Given the description of an element on the screen output the (x, y) to click on. 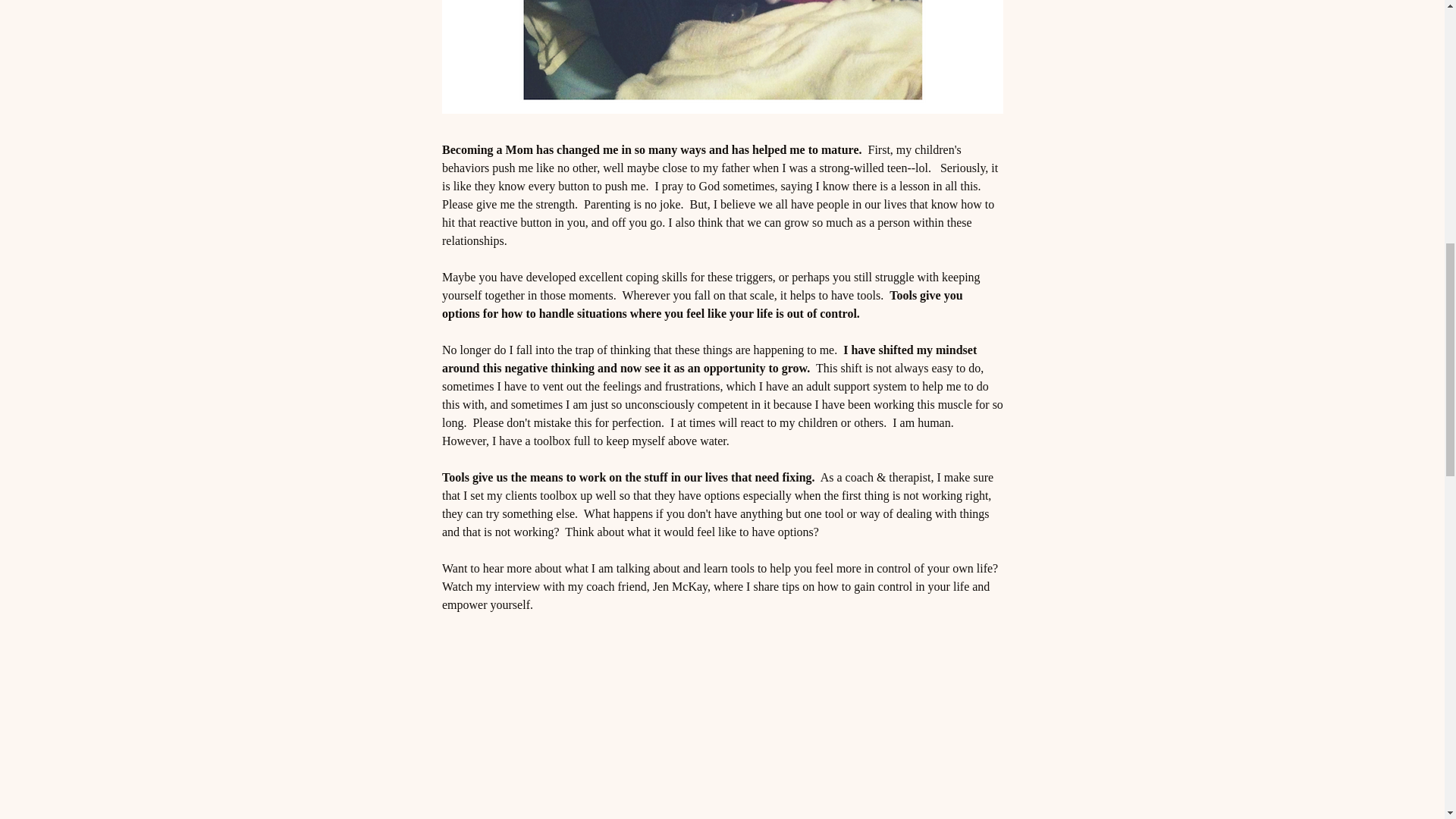
ricos-video (722, 690)
